Given the description of an element on the screen output the (x, y) to click on. 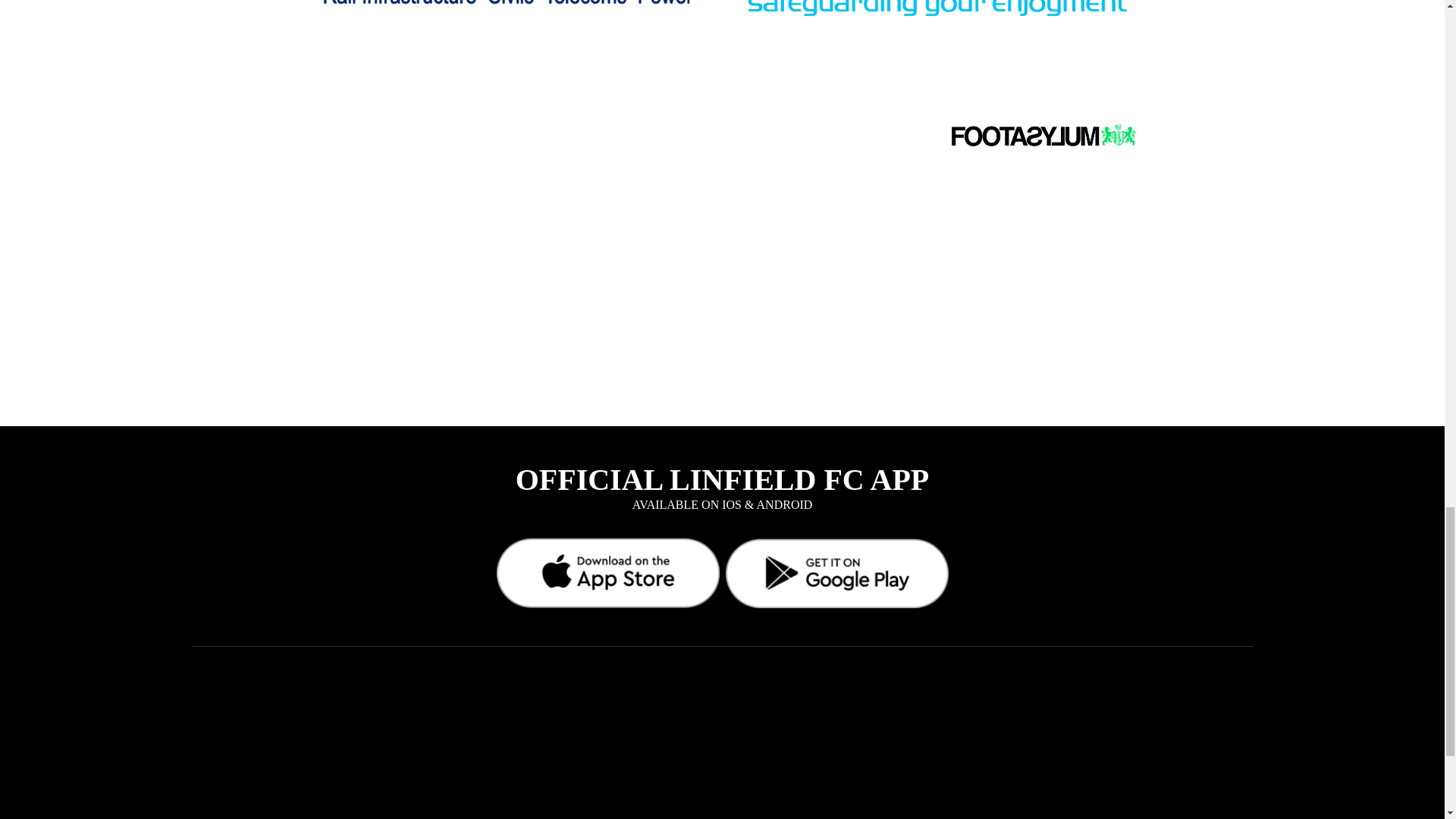
Ready Construction Linfield Logo (507, 34)
eventsec (936, 34)
